Given the description of an element on the screen output the (x, y) to click on. 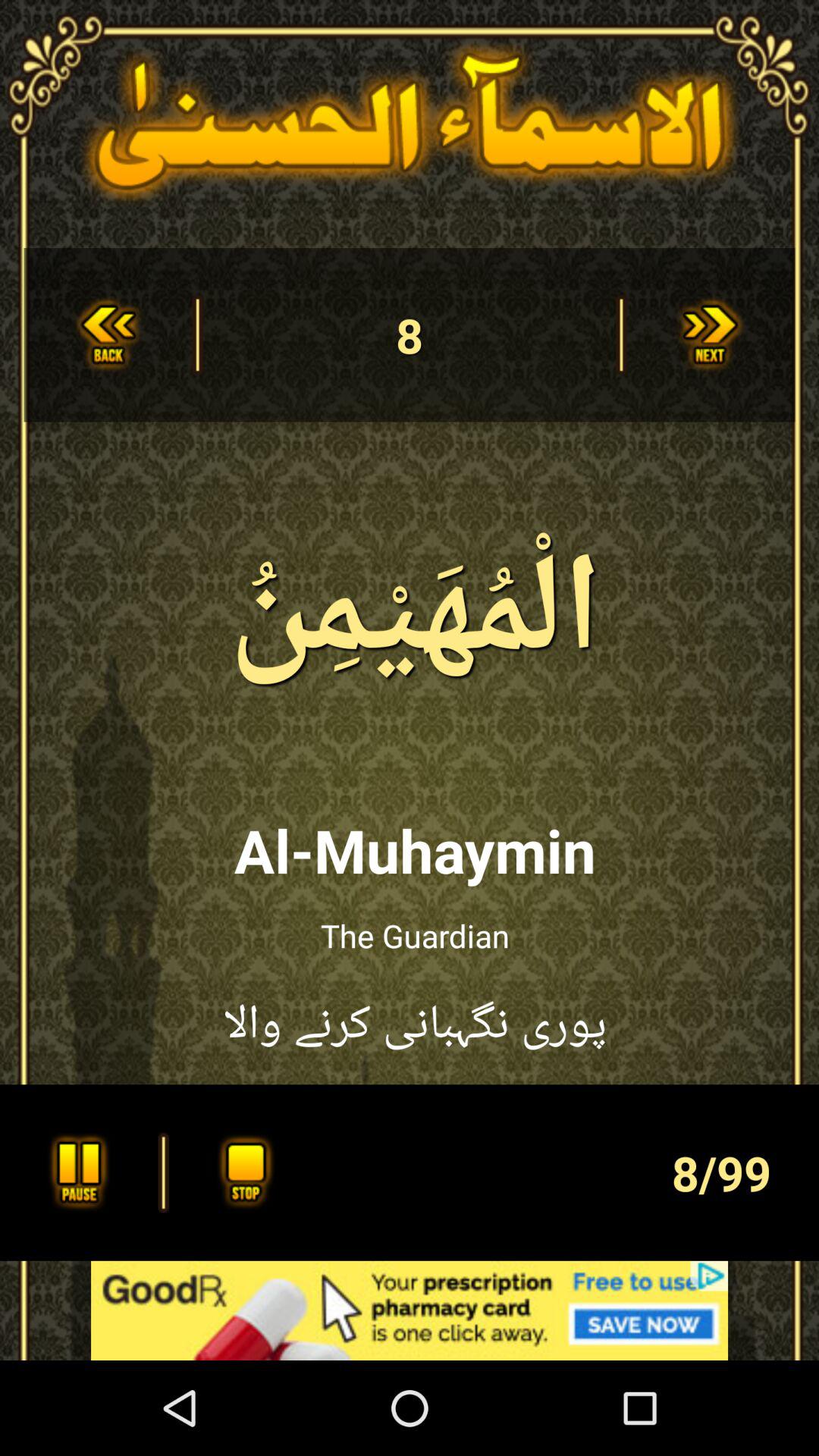
go to previous (107, 334)
